Given the description of an element on the screen output the (x, y) to click on. 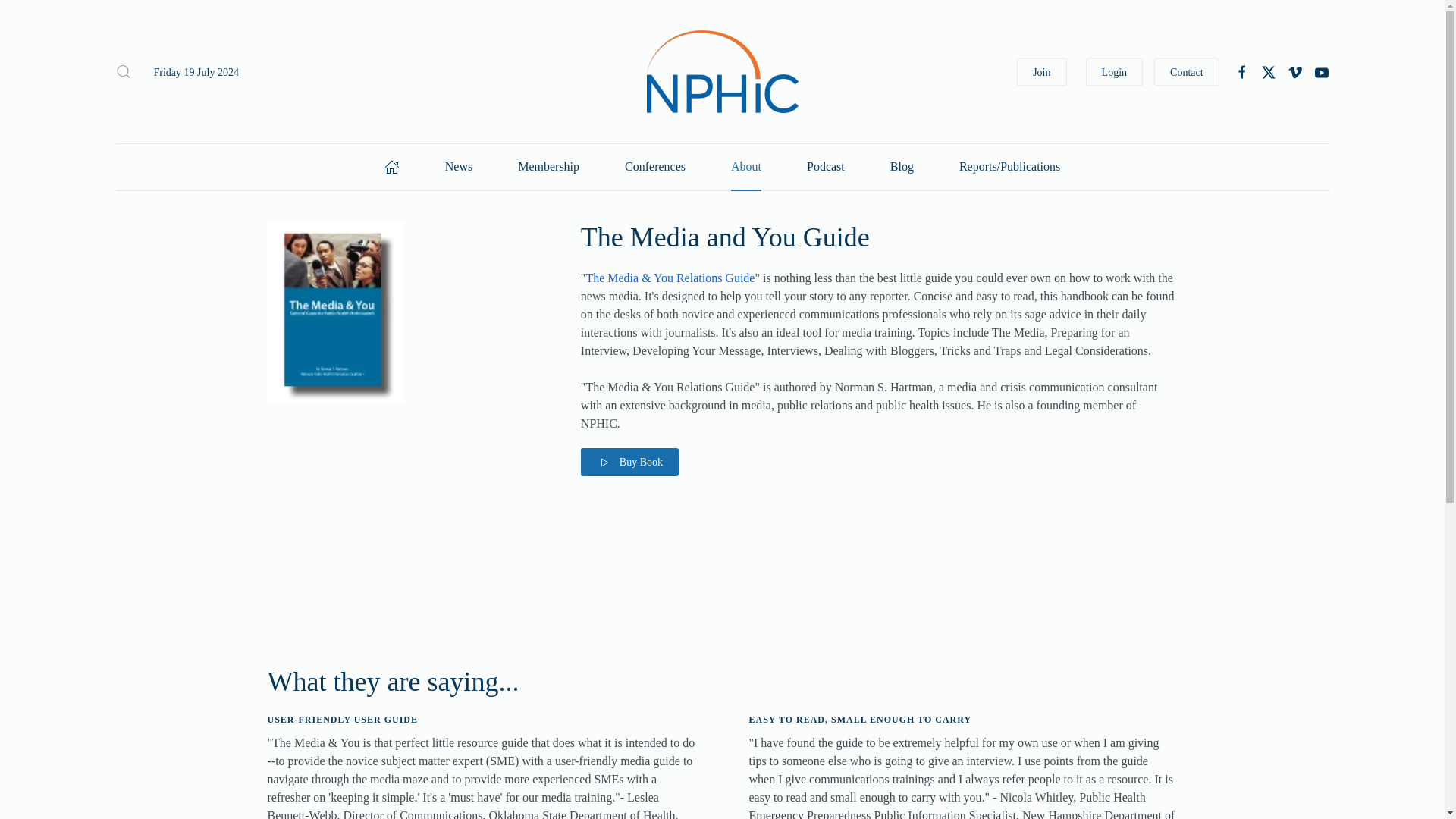
Click here to View the Kindle Book (669, 277)
Join (1040, 71)
Login (1114, 71)
Click to Order (629, 461)
Contact (1187, 71)
